Given the description of an element on the screen output the (x, y) to click on. 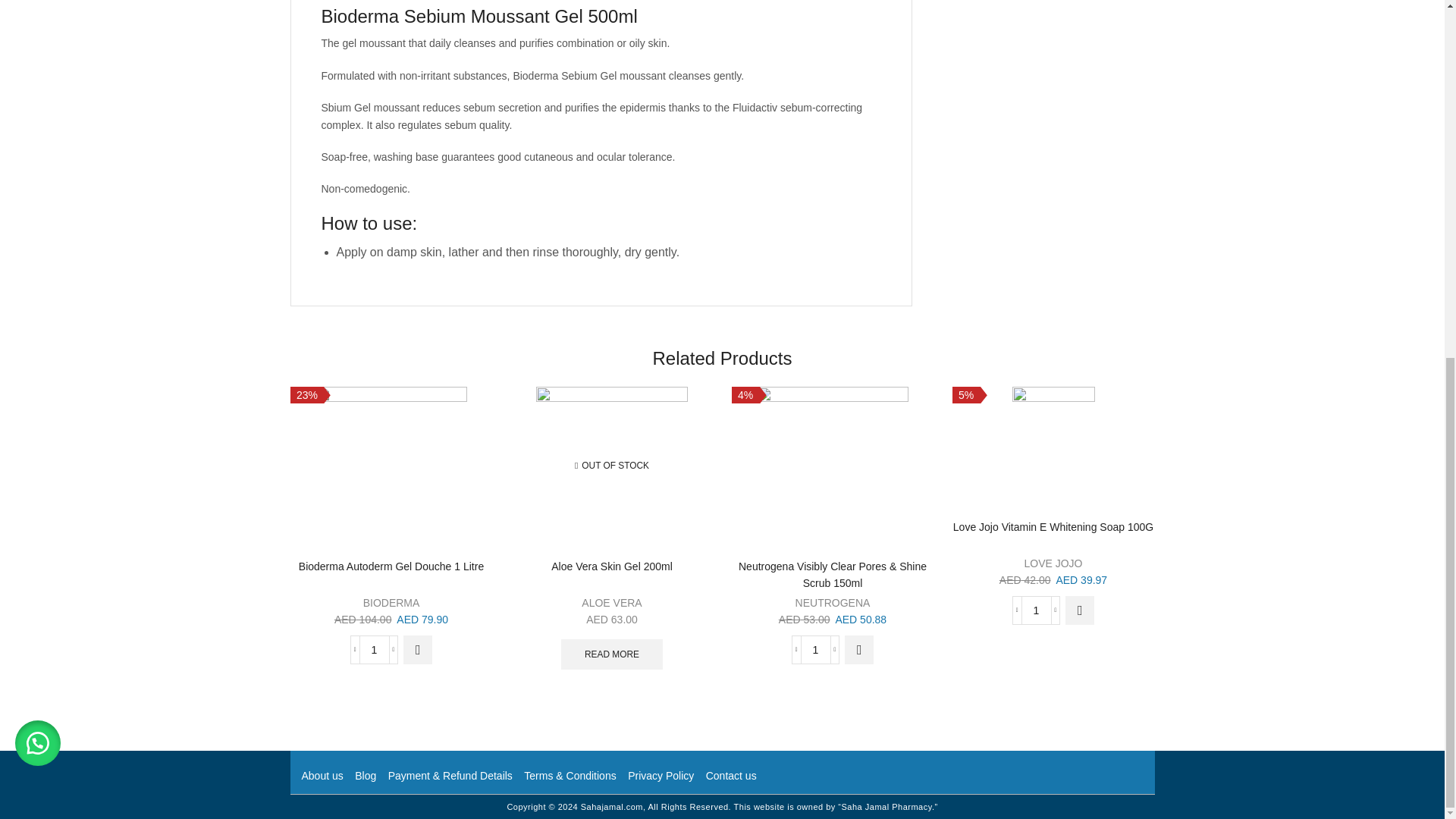
1 (1036, 610)
1 (814, 649)
1 (373, 649)
